Given the description of an element on the screen output the (x, y) to click on. 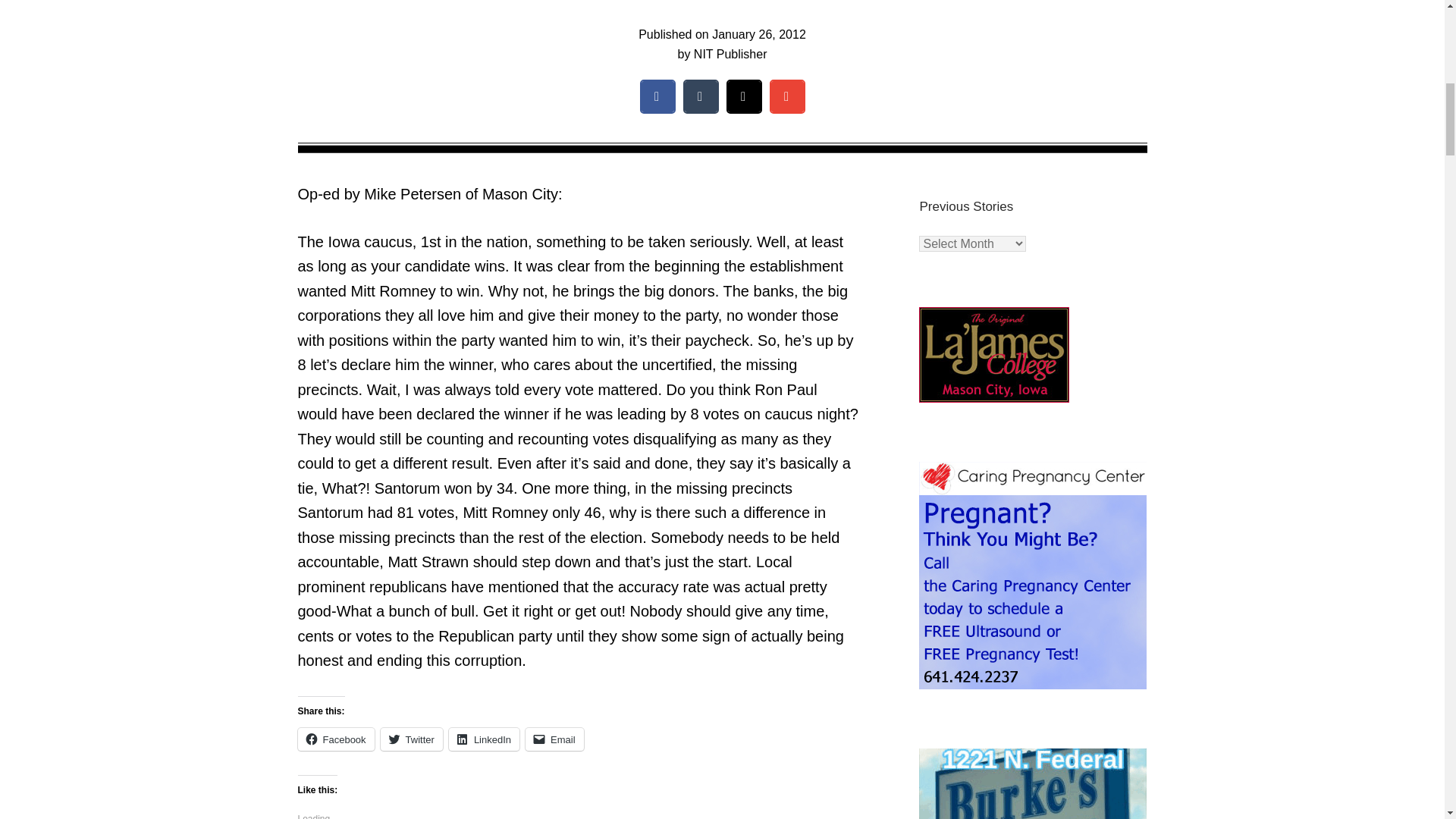
Twitter (411, 739)
Email (554, 739)
Click to share on LinkedIn (483, 739)
Click to share on Facebook (335, 739)
Click to share on Twitter (411, 739)
Facebook (335, 739)
LinkedIn (483, 739)
Click to email a link to a friend (554, 739)
